Given the description of an element on the screen output the (x, y) to click on. 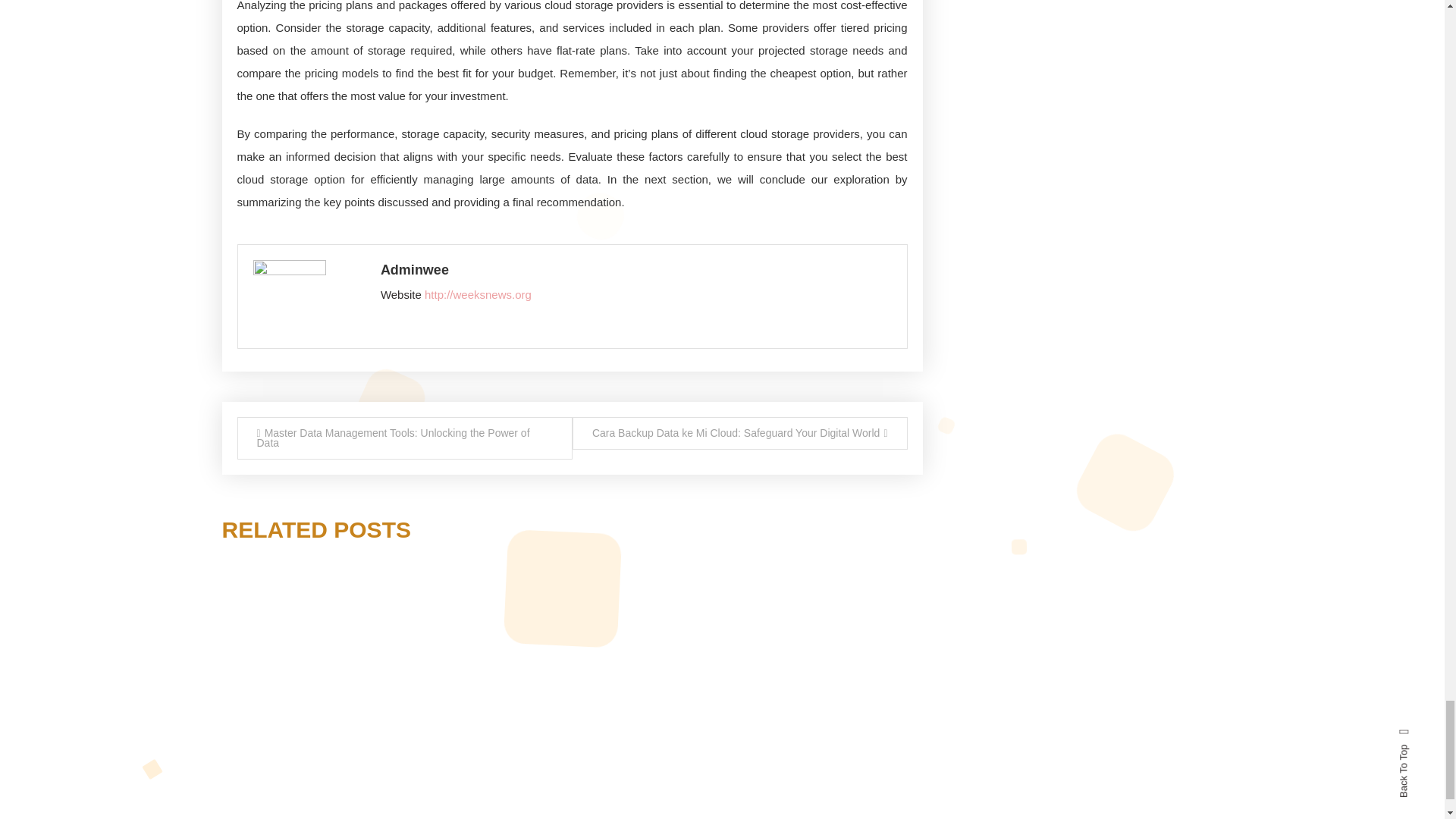
Cara Backup Data ke Mi Cloud: Safeguard Your Digital World (739, 432)
Master Data Management Tools: Unlocking the Power of Data (403, 437)
Adminwee (635, 270)
Posts by adminwee (635, 270)
